Given the description of an element on the screen output the (x, y) to click on. 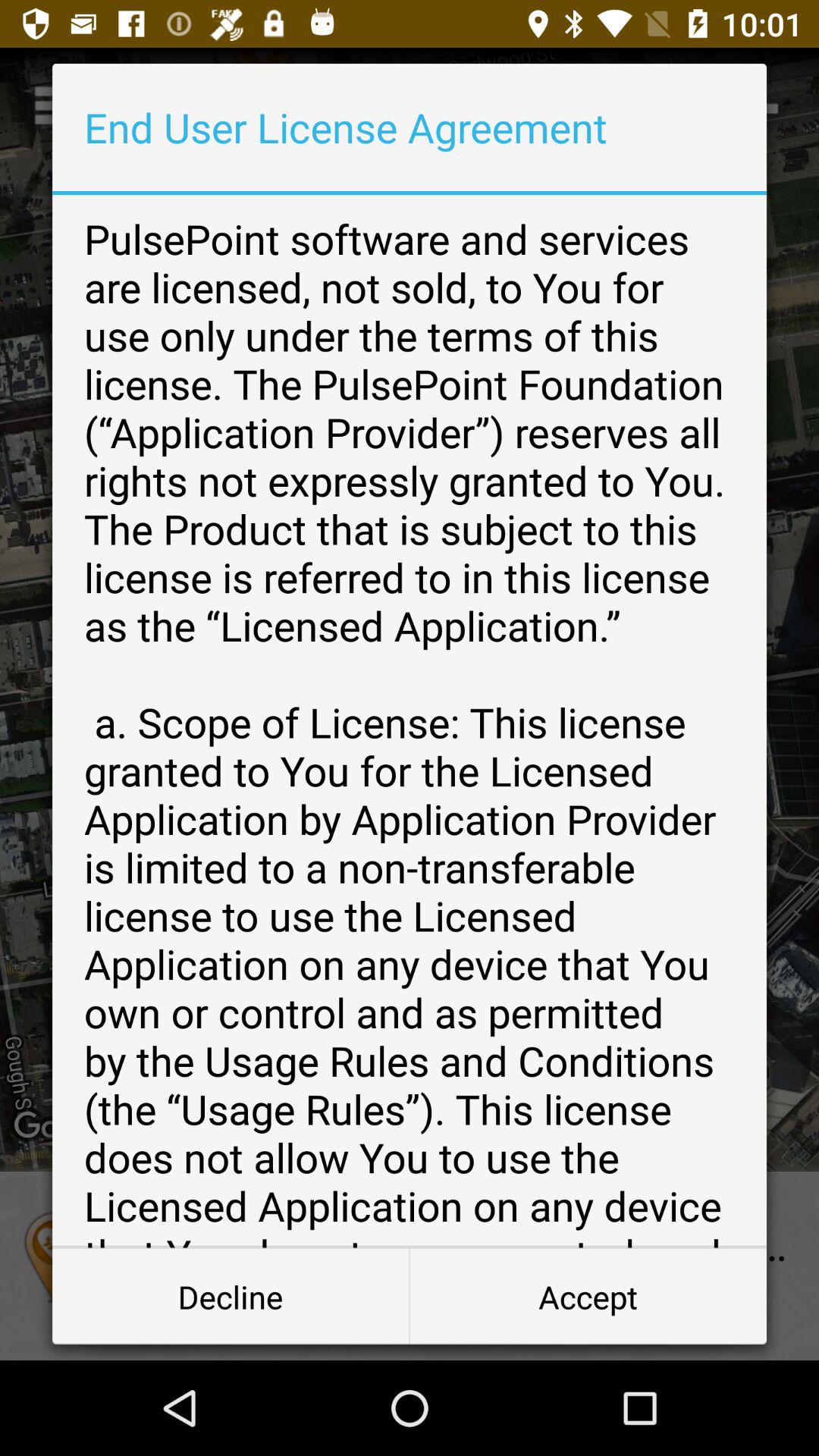
launch app below pulsepoint software and item (230, 1296)
